Given the description of an element on the screen output the (x, y) to click on. 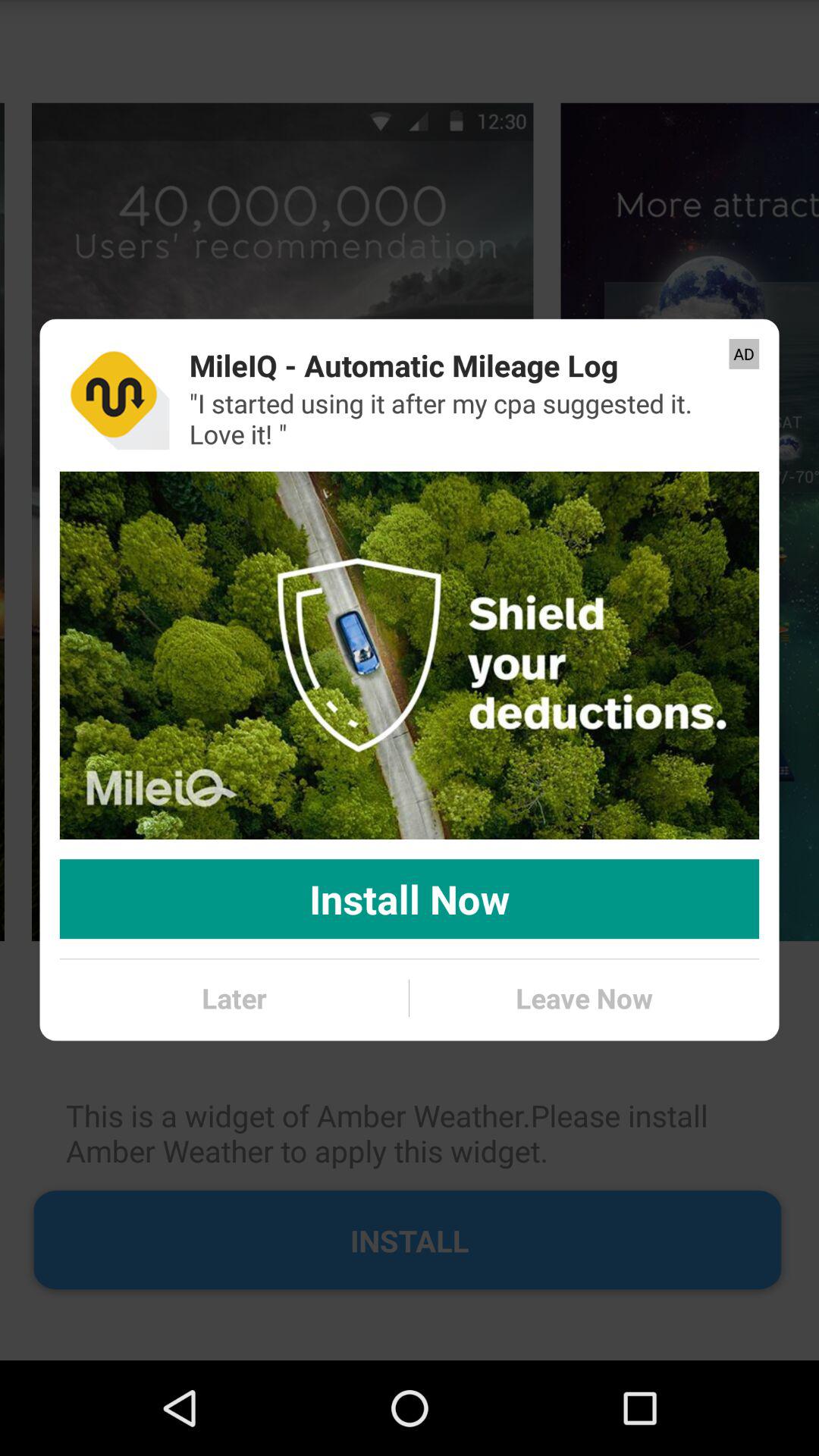
scroll to i started using icon (464, 418)
